Given the description of an element on the screen output the (x, y) to click on. 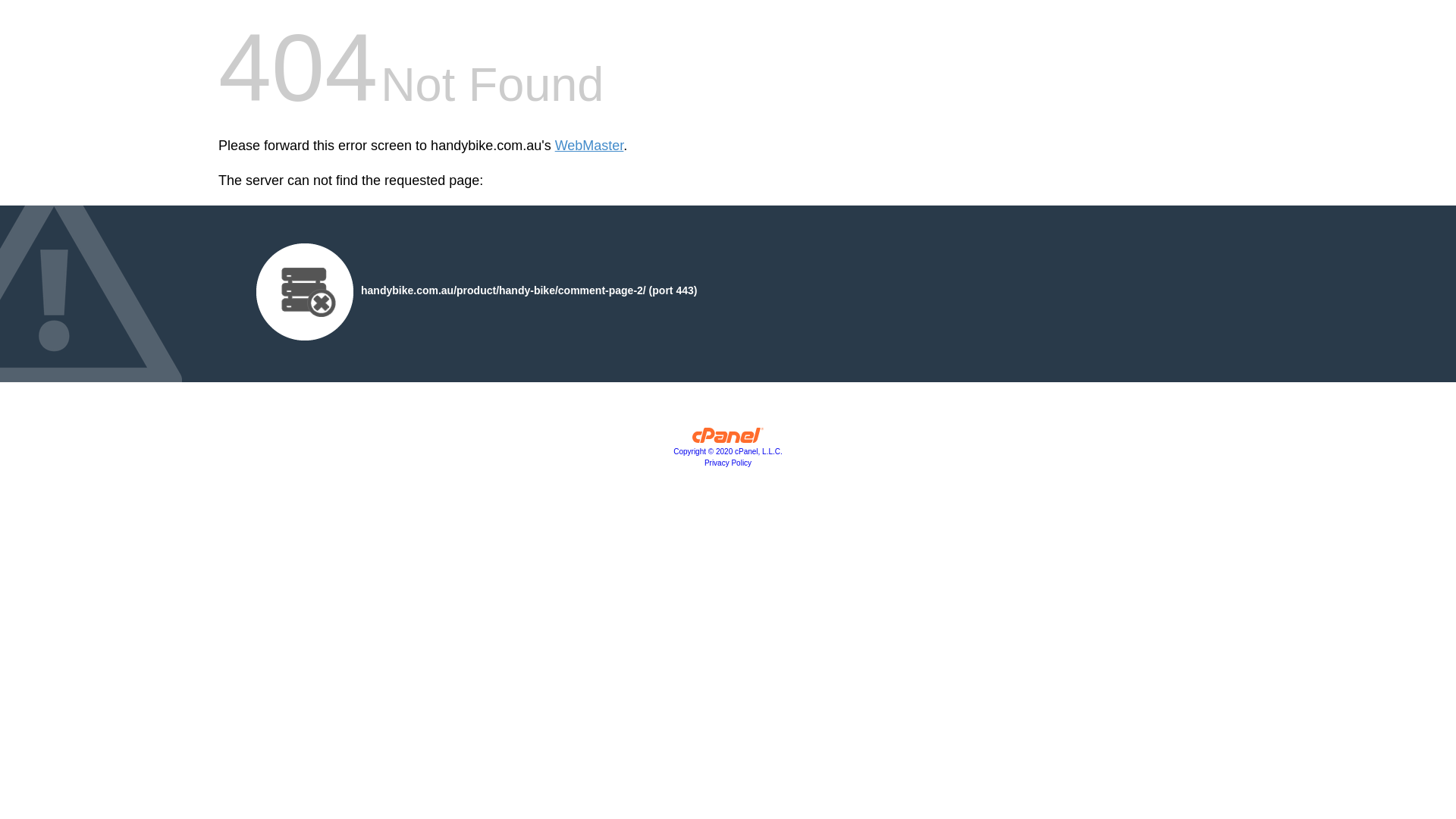
Privacy Policy Element type: text (727, 462)
cPanel, Inc. Element type: hover (728, 439)
WebMaster Element type: text (589, 145)
